Given the description of an element on the screen output the (x, y) to click on. 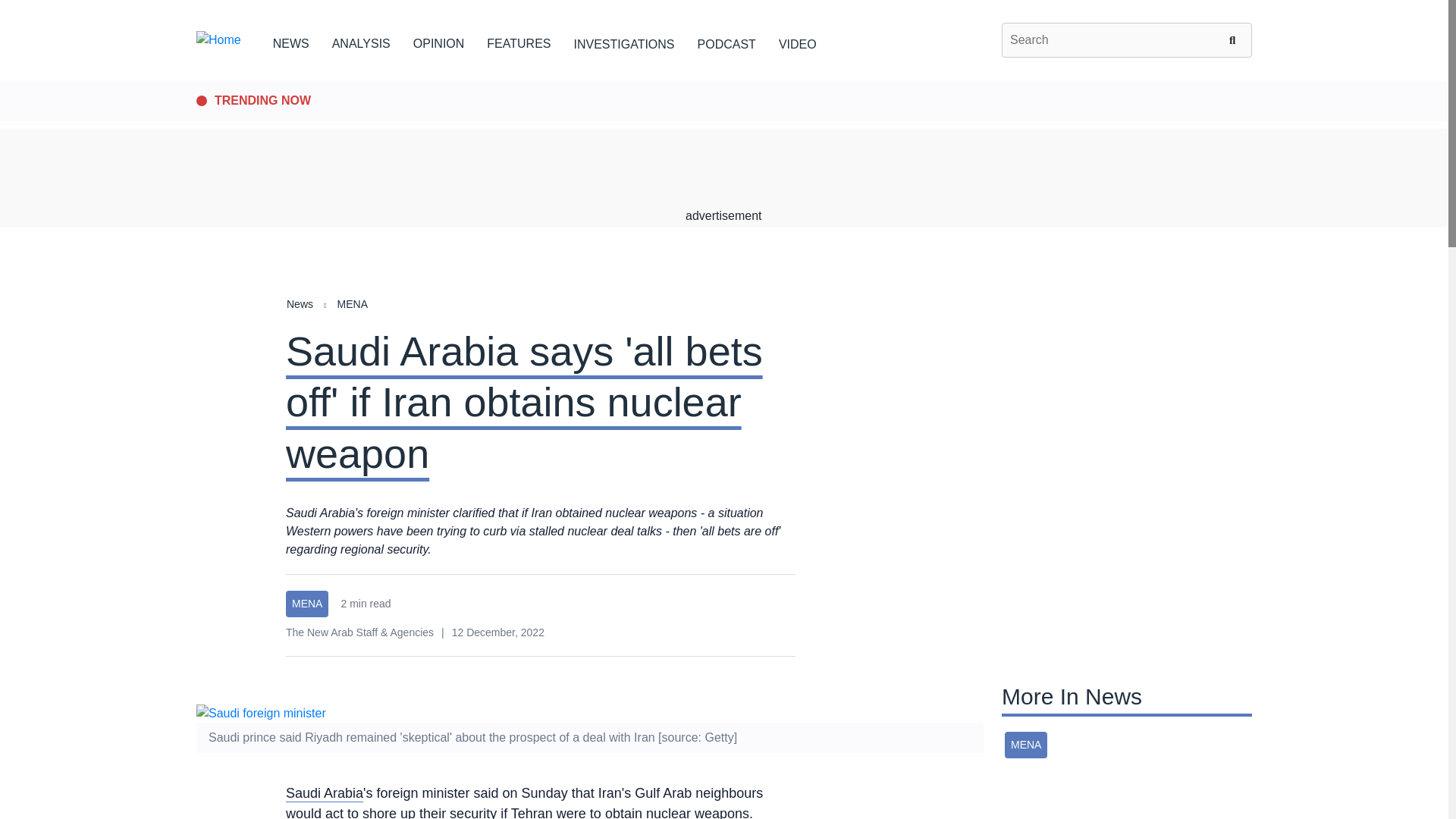
OPINION (438, 41)
NEWS (291, 41)
Search (1234, 39)
ANALYSIS (360, 41)
Skip to main content (724, 81)
